Given the description of an element on the screen output the (x, y) to click on. 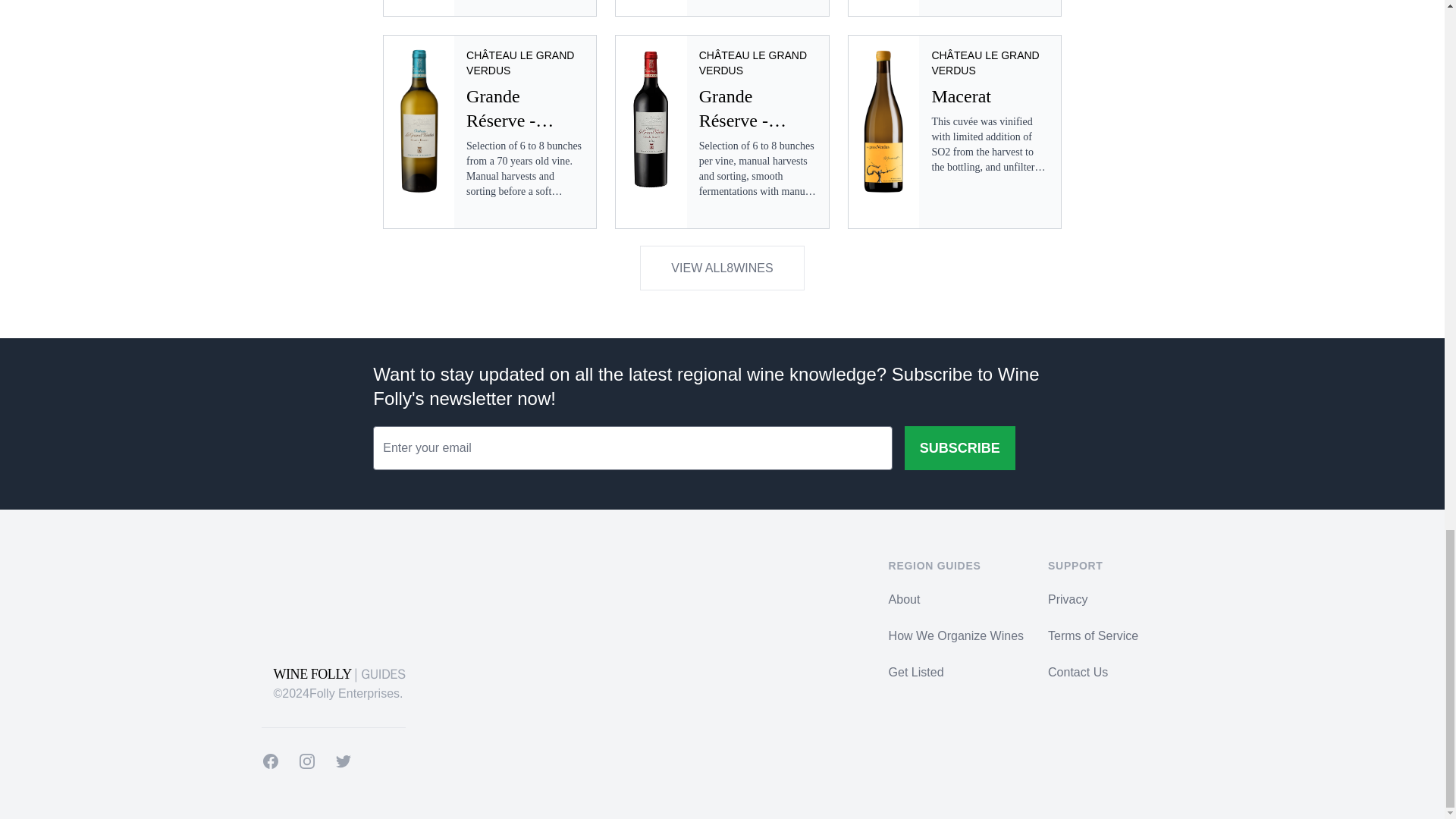
VIEW ALL8WINES (721, 267)
Twitter (342, 761)
How We Organize Wines (955, 635)
Facebook (269, 761)
About (904, 599)
Privacy (1067, 599)
SUBSCRIBE (959, 447)
Instagram (306, 761)
Get Listed (915, 671)
